Given the description of an element on the screen output the (x, y) to click on. 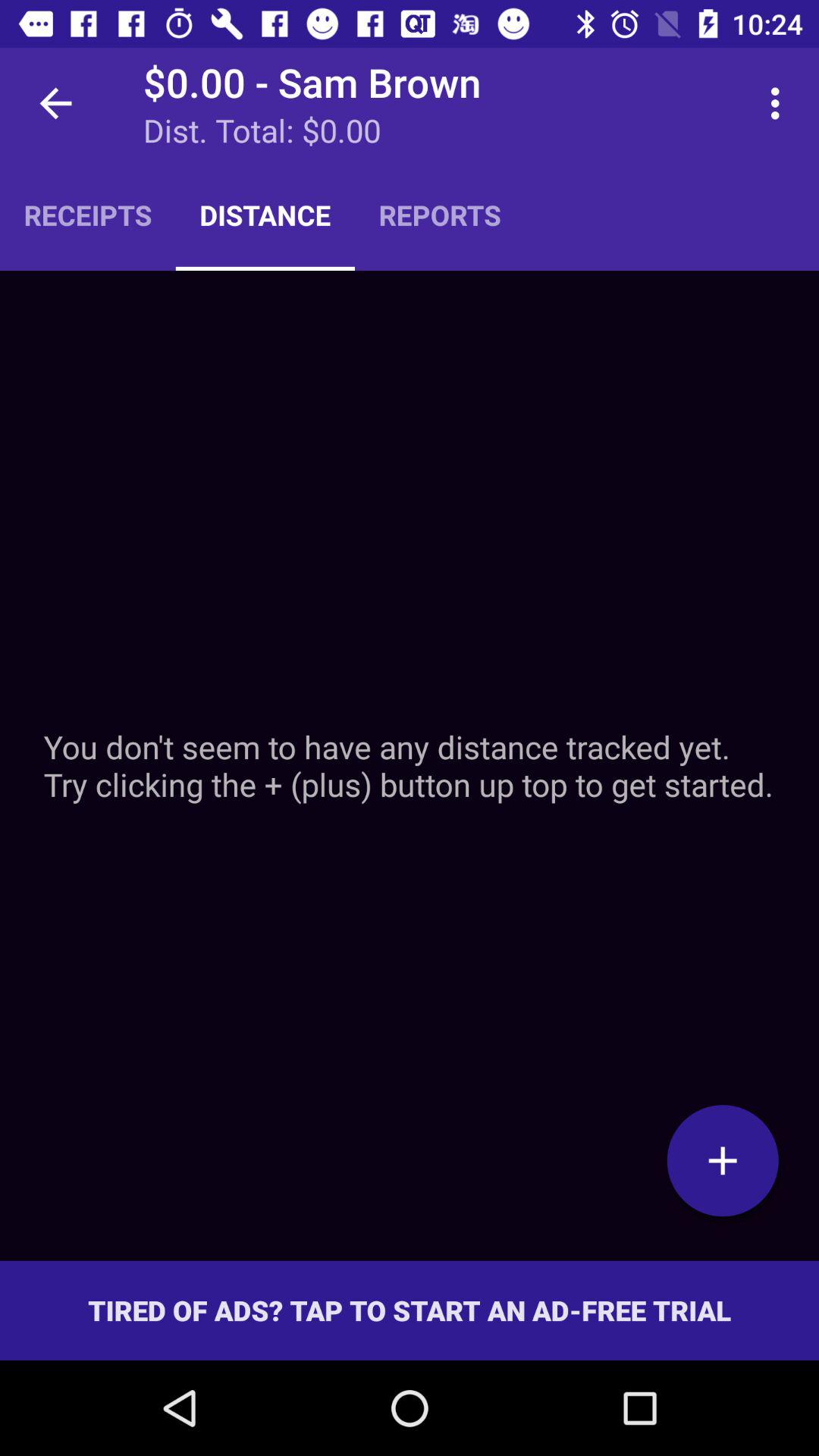
press the item below the you don t item (722, 1160)
